Given the description of an element on the screen output the (x, y) to click on. 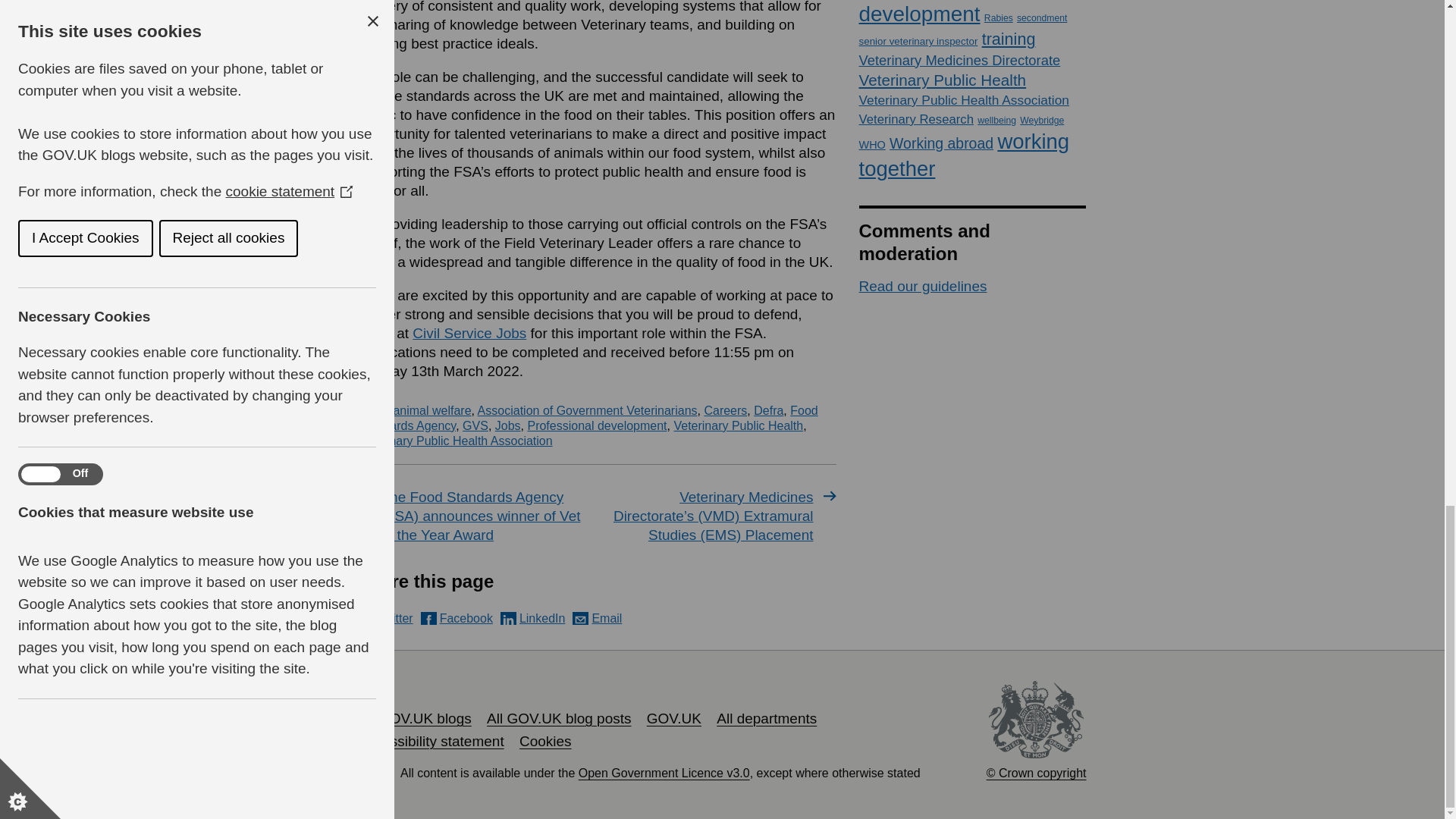
Veterinary Public Health Association (454, 440)
Defra (768, 410)
LinkedIn (533, 617)
Professional development (596, 425)
GVS (475, 425)
animal welfare (431, 410)
Twitter (385, 617)
Jobs (508, 425)
Veterinary Public Health (737, 425)
Civil Service Jobs (468, 333)
Association of Government Veterinarians (587, 410)
Email (596, 617)
Careers (724, 410)
Facebook (456, 617)
Food Standards Agency (587, 418)
